Given the description of an element on the screen output the (x, y) to click on. 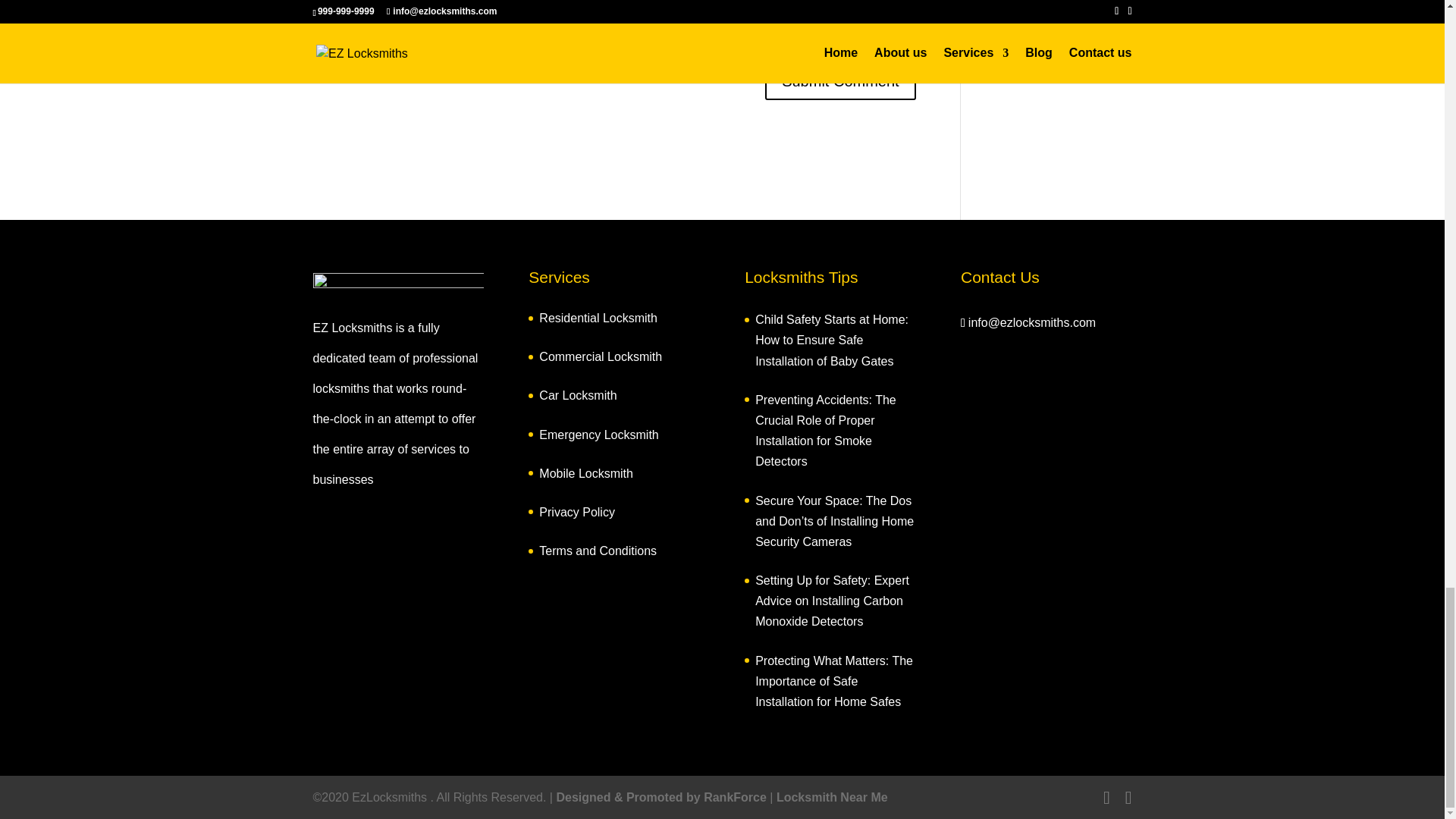
yes (319, 39)
Submit Comment (840, 80)
Submit Comment (840, 80)
